Given the description of an element on the screen output the (x, y) to click on. 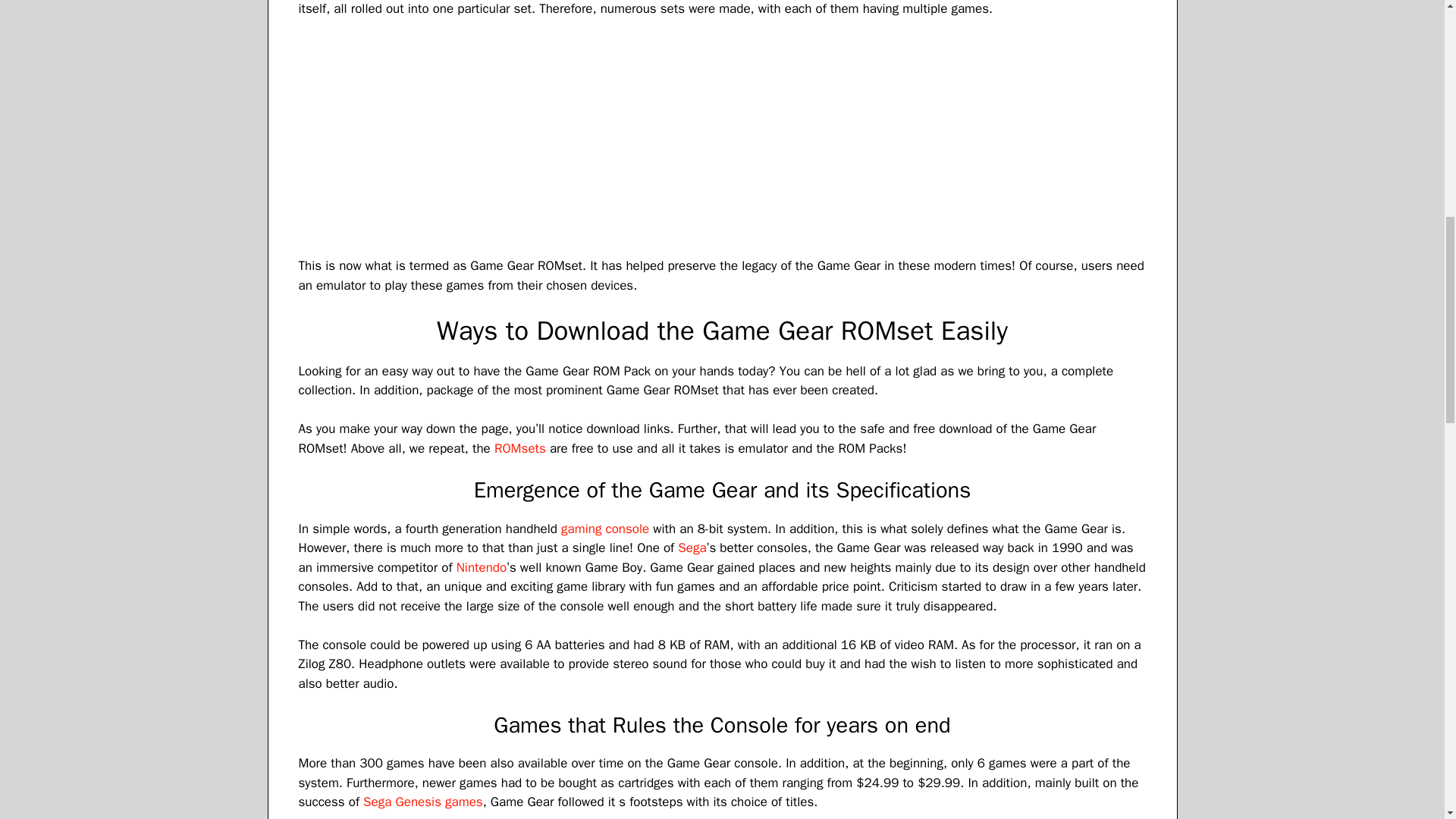
Sega (692, 547)
gaming console (604, 528)
Nintendo (481, 567)
ROMsets (520, 448)
Sega Genesis games (422, 801)
